Given the description of an element on the screen output the (x, y) to click on. 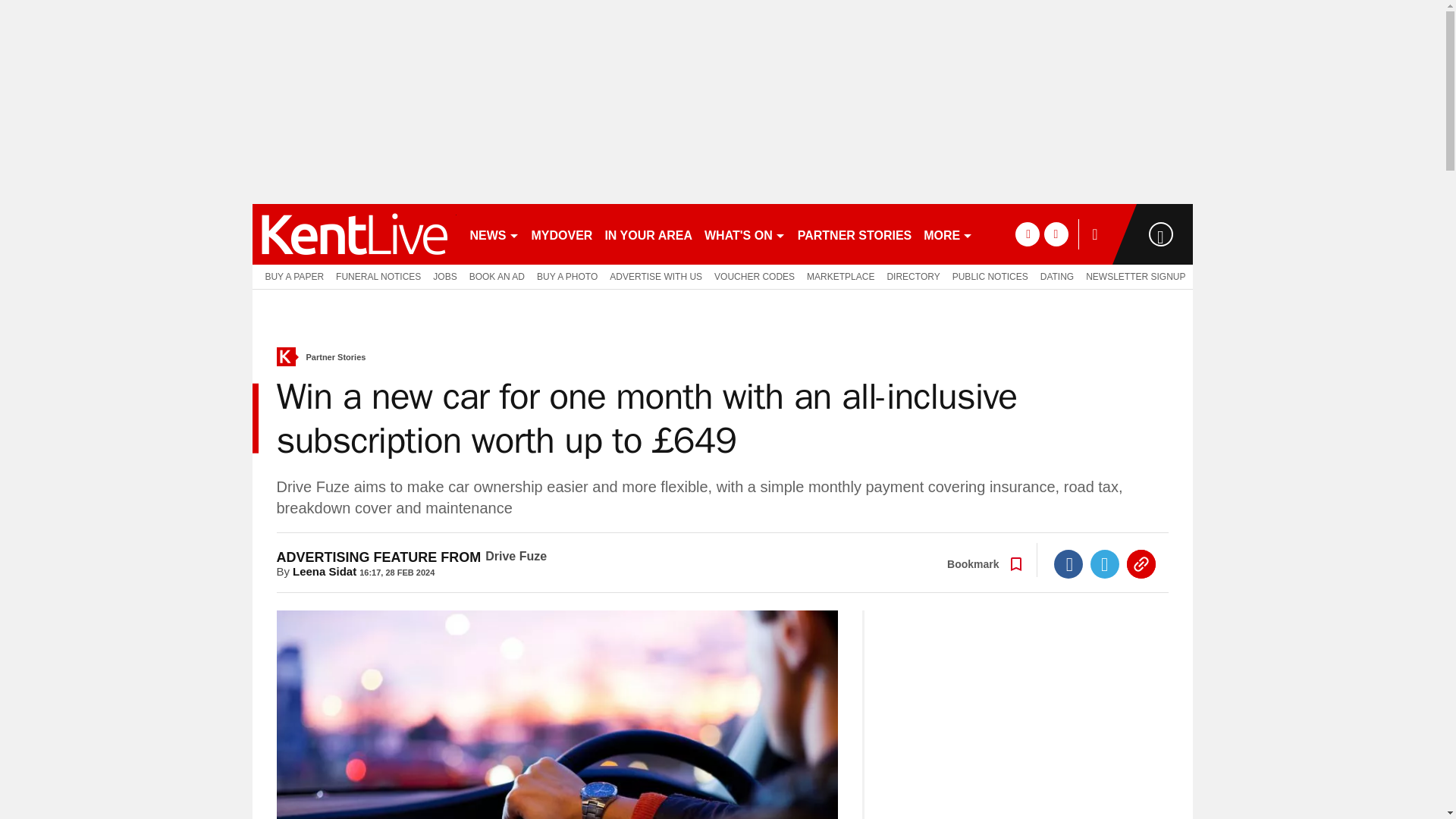
PARTNER STORIES (855, 233)
Facebook (1068, 563)
NEWS (494, 233)
twitter (1055, 233)
facebook (1026, 233)
IN YOUR AREA (648, 233)
kentlive (353, 233)
MYDOVER (561, 233)
WHAT'S ON (745, 233)
Twitter (1104, 563)
